Given the description of an element on the screen output the (x, y) to click on. 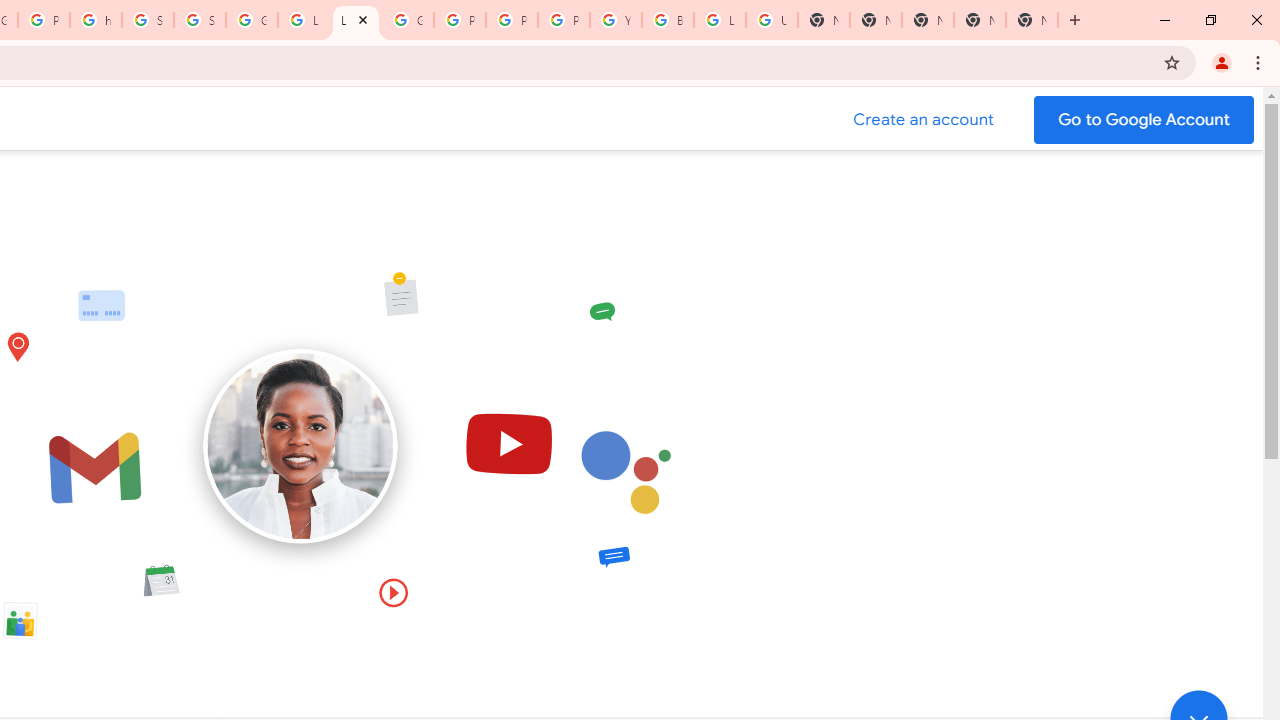
https://scholar.google.com/ (95, 20)
Create a Google Account (923, 119)
Privacy Help Center - Policies Help (459, 20)
New Tab (1032, 20)
YouTube (616, 20)
